Given the description of an element on the screen output the (x, y) to click on. 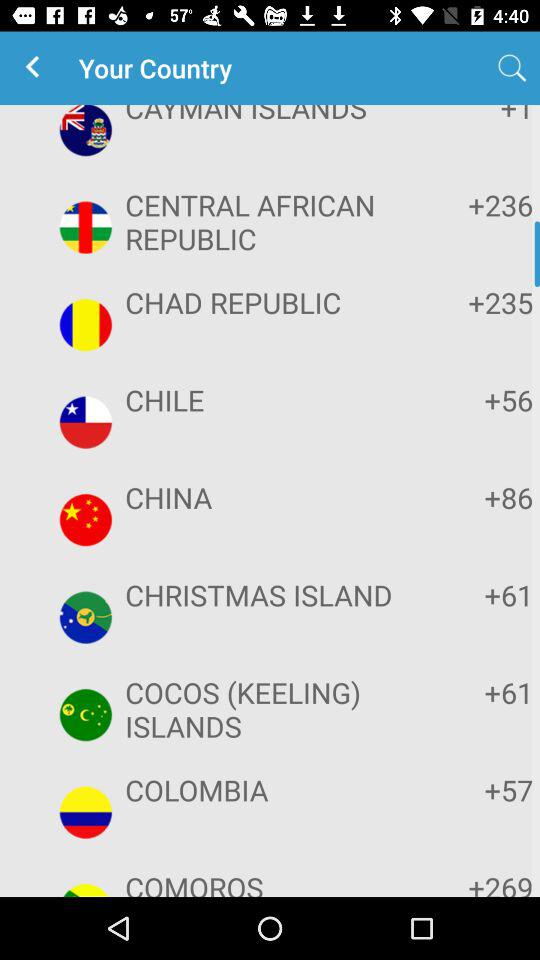
click icon to the left of the +269 (267, 882)
